Given the description of an element on the screen output the (x, y) to click on. 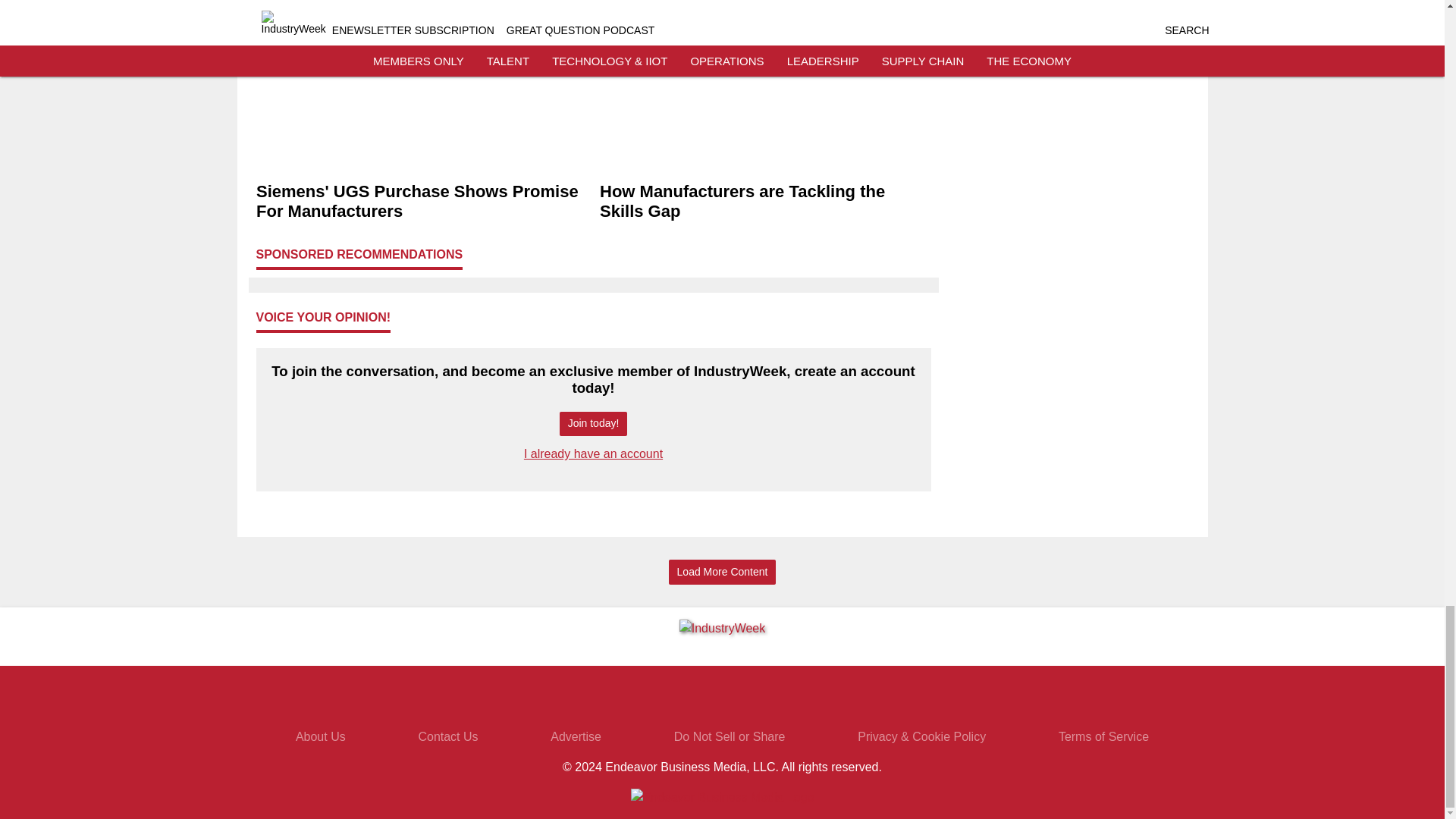
I already have an account (593, 453)
Join today! (593, 423)
How Manufacturers are Tackling the Skills Gap (764, 201)
Siemens' UGS Purchase Shows Promise For Manufacturers (422, 201)
